Given the description of an element on the screen output the (x, y) to click on. 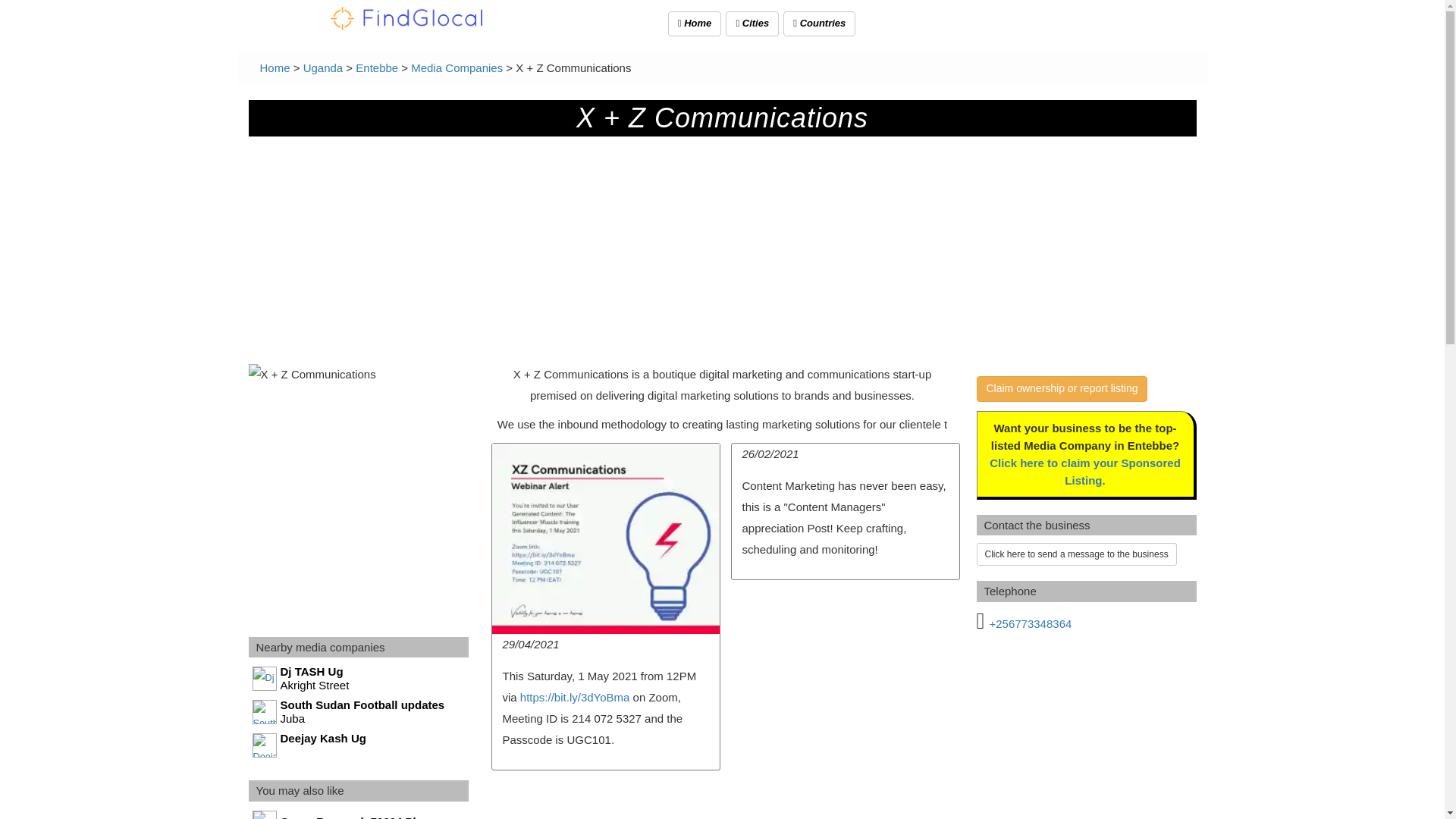
Click here to send a message to the business (358, 679)
Cities (358, 712)
Deejay Kash Ug (1076, 553)
Gross Research 70204 Play (751, 23)
Uganda (358, 746)
Media Companies (358, 814)
Click here to claim your Sponsored Listing. (322, 67)
Countries (456, 67)
